Given the description of an element on the screen output the (x, y) to click on. 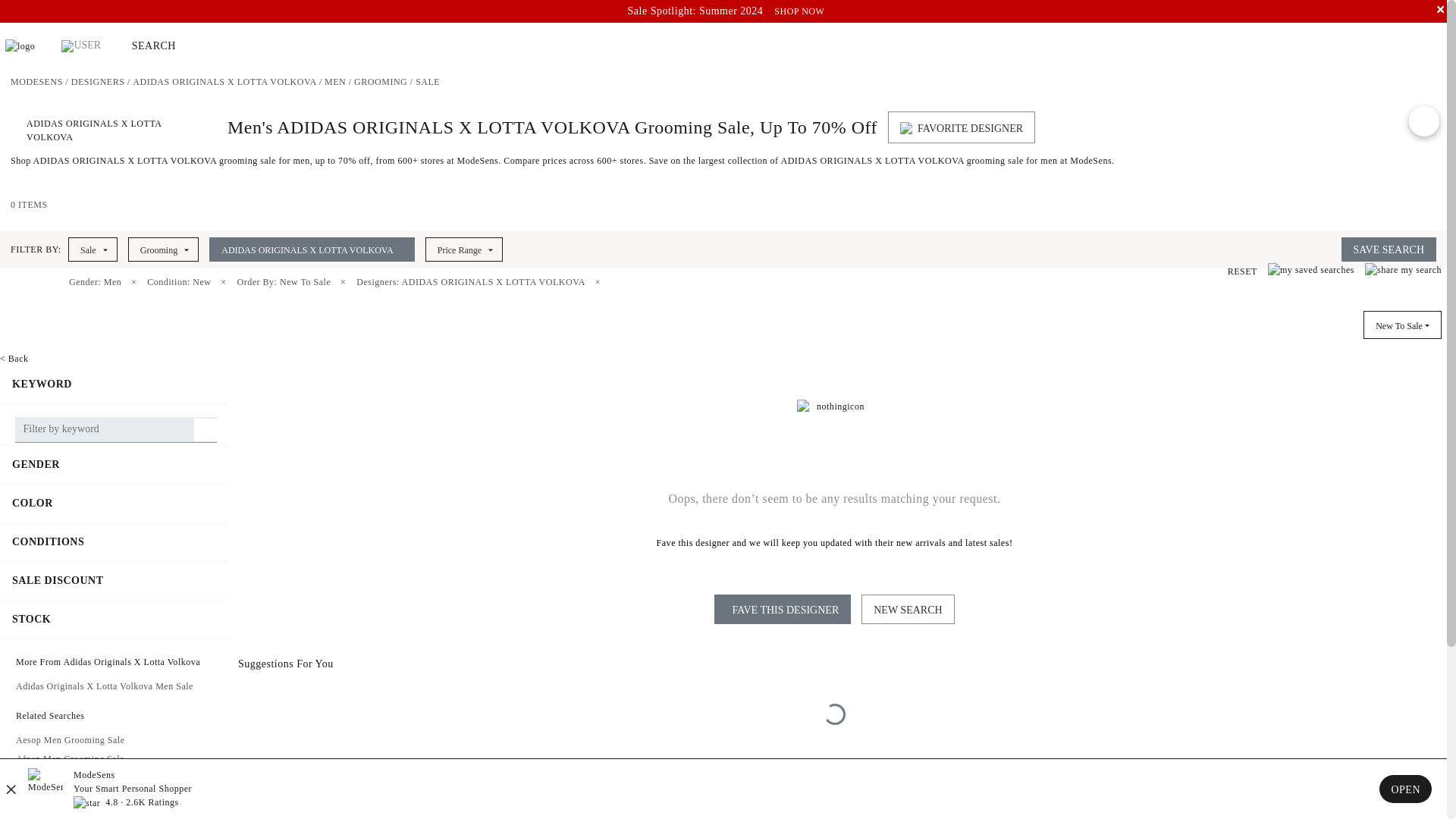
Adidas Originals X Lotta Volkova (223, 81)
OPEN (1404, 788)
Designers (98, 81)
Adidas Originals X Lotta Volkova Grooming for Men (380, 81)
Adidas Originals X Lotta Volkova Men (335, 81)
Men's Adidas Originals X Lotta Volkova Grooming Sale (426, 81)
ModeSens (36, 81)
